Given the description of an element on the screen output the (x, y) to click on. 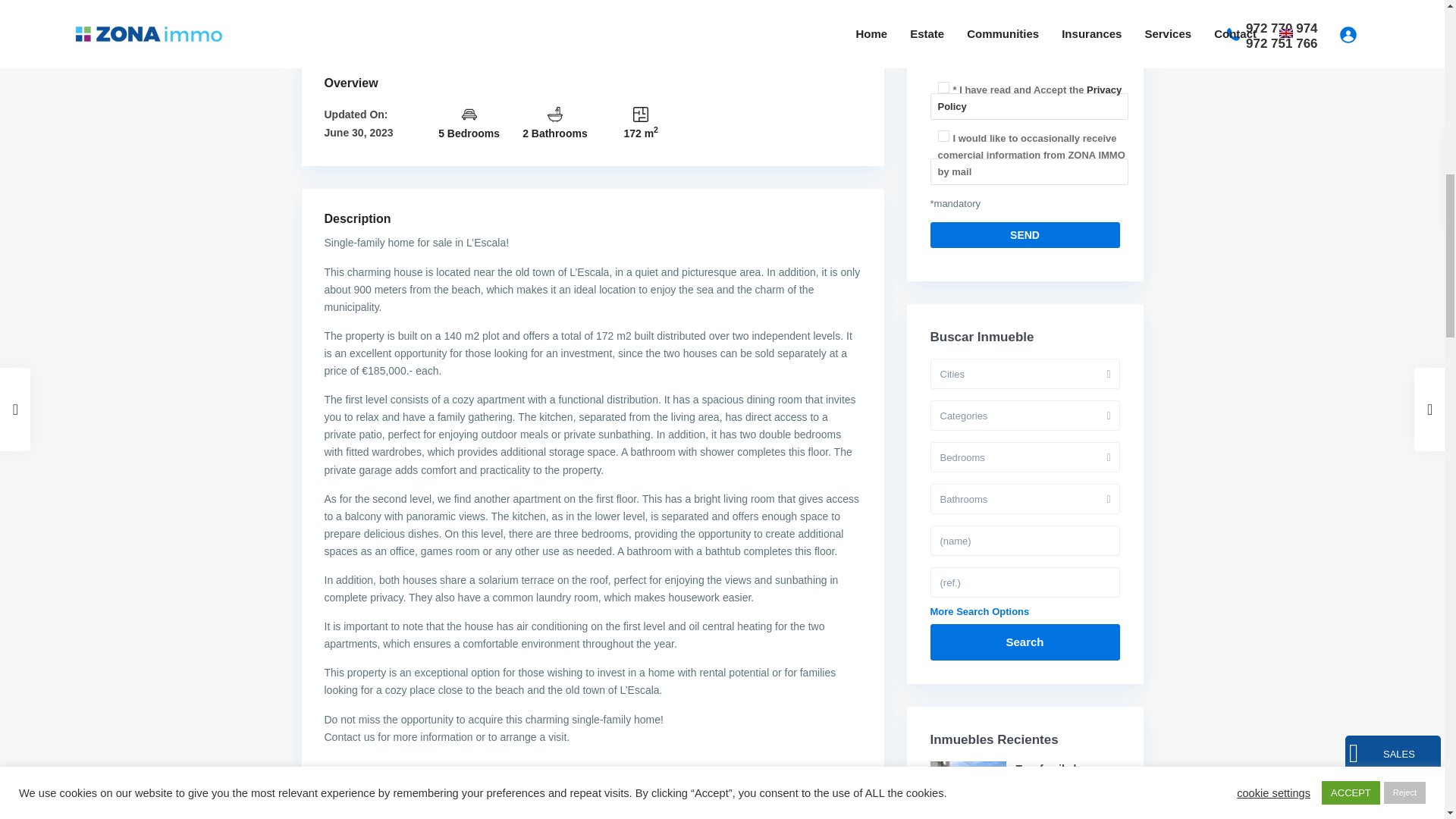
1 (943, 135)
1 (943, 87)
Send (1024, 234)
